Given the description of an element on the screen output the (x, y) to click on. 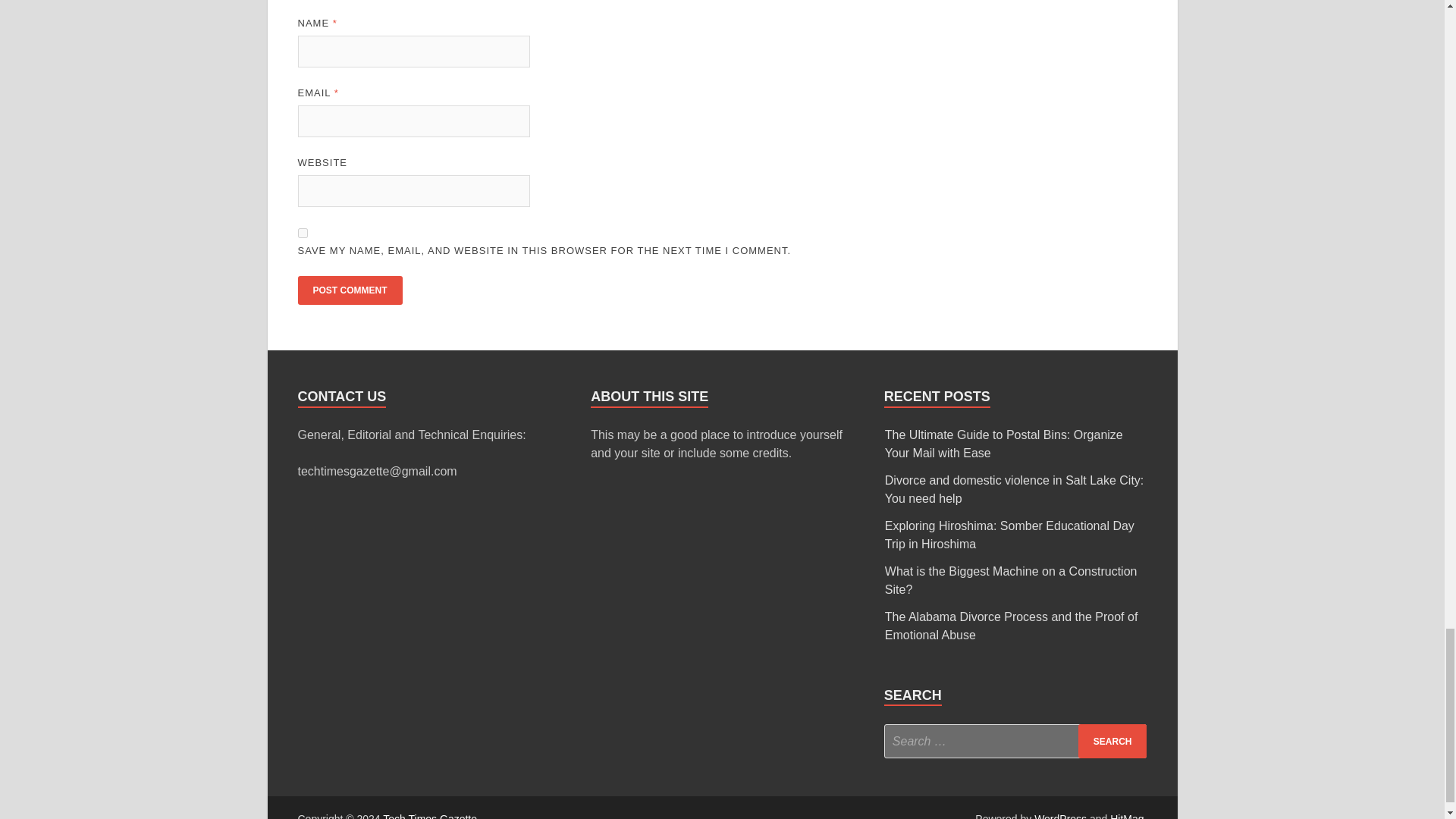
Post Comment (349, 290)
Search (1112, 740)
yes (302, 233)
Search (1112, 740)
